Given the description of an element on the screen output the (x, y) to click on. 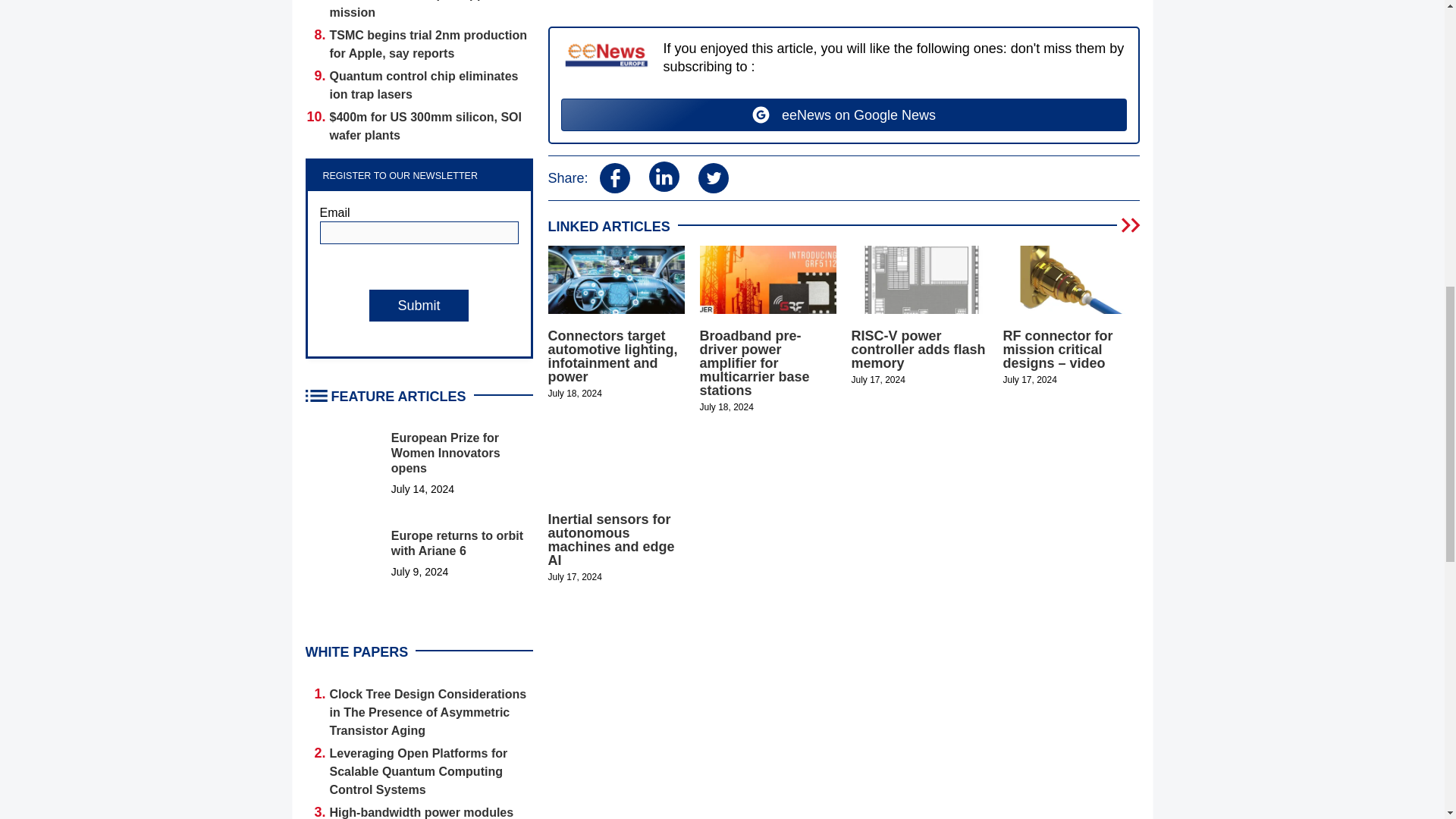
Submit (418, 305)
